Given the description of an element on the screen output the (x, y) to click on. 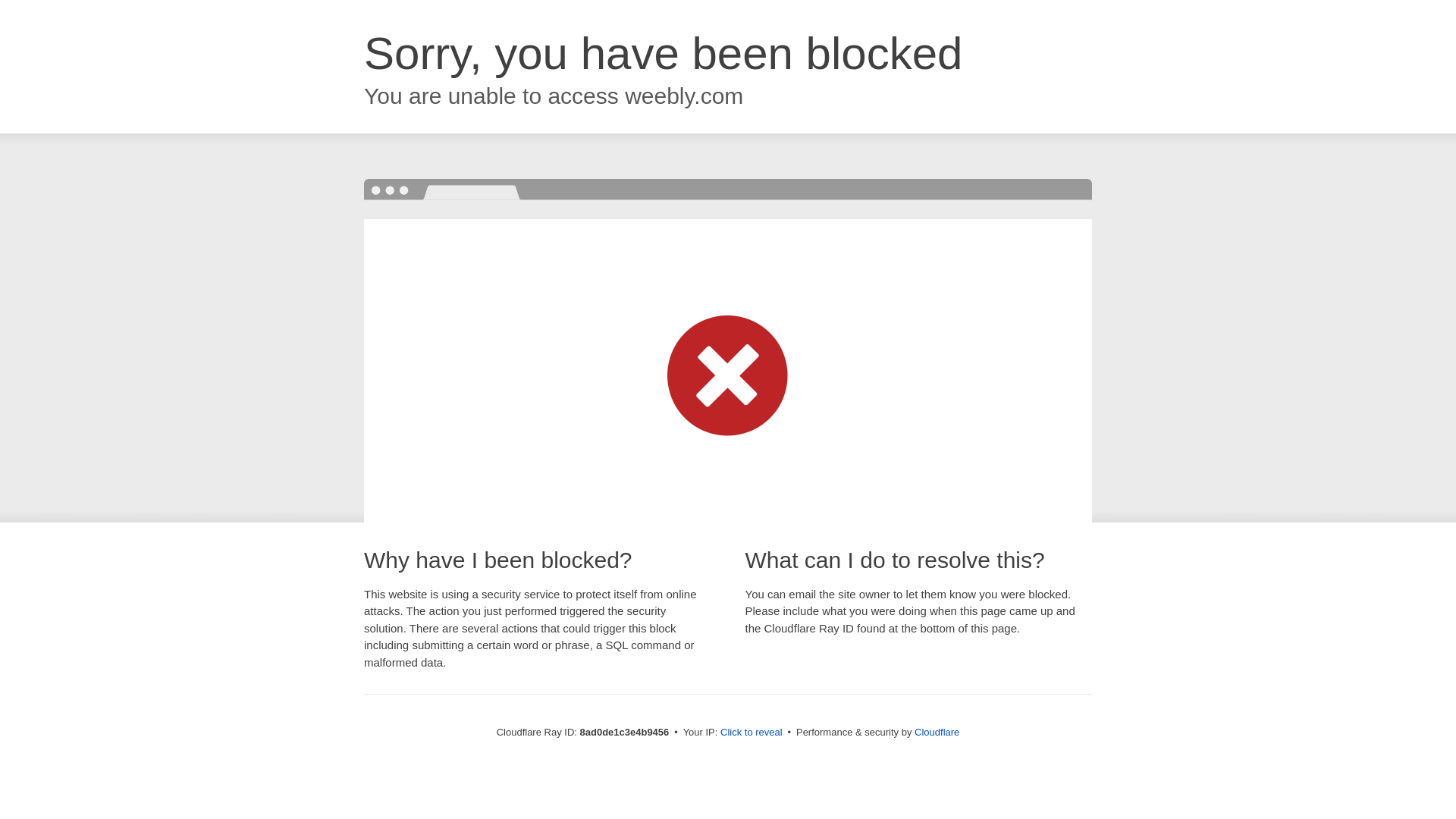
Click to reveal (751, 732)
Cloudflare (936, 731)
